Given the description of an element on the screen output the (x, y) to click on. 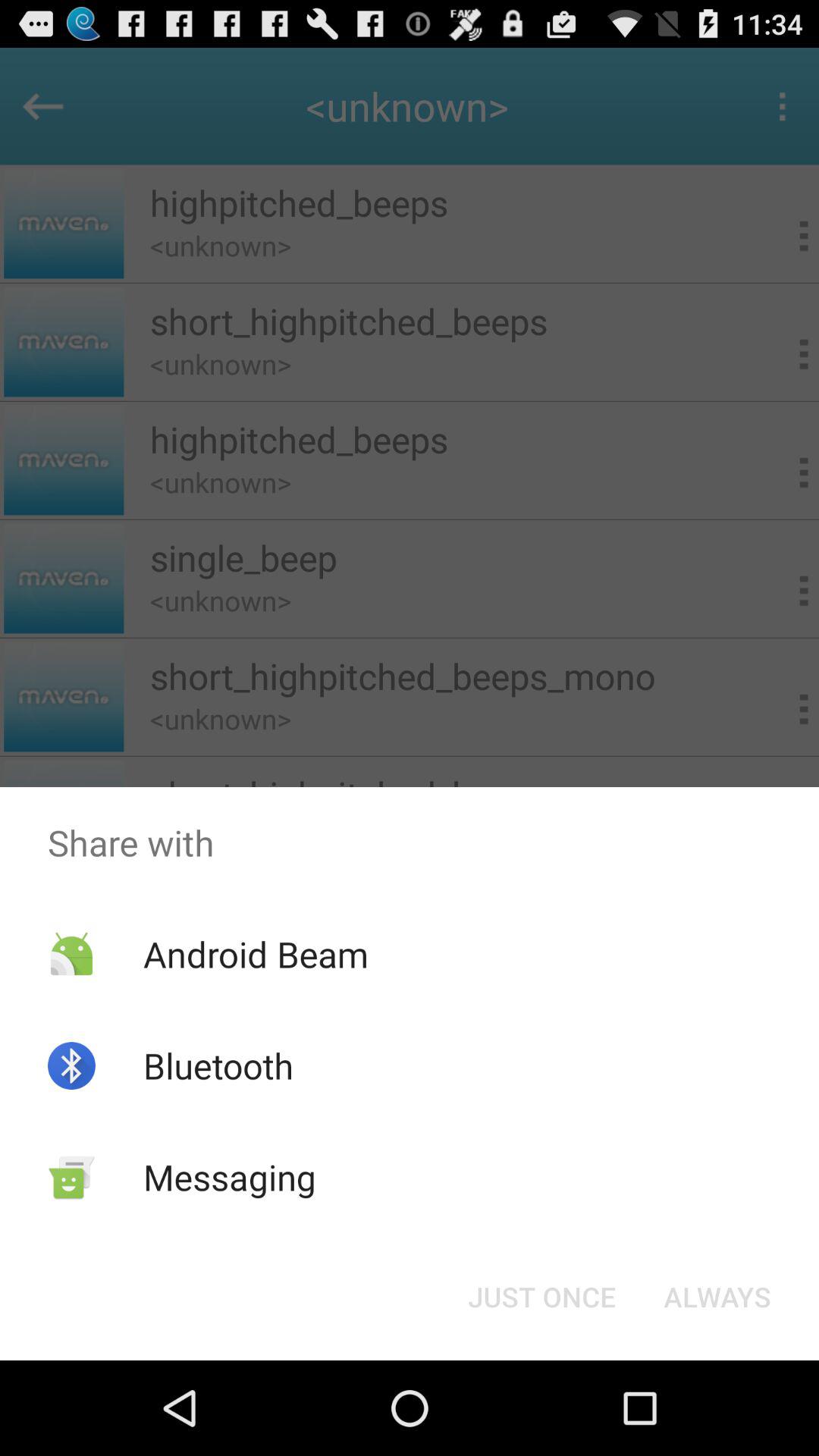
choose icon to the right of just once item (717, 1296)
